Given the description of an element on the screen output the (x, y) to click on. 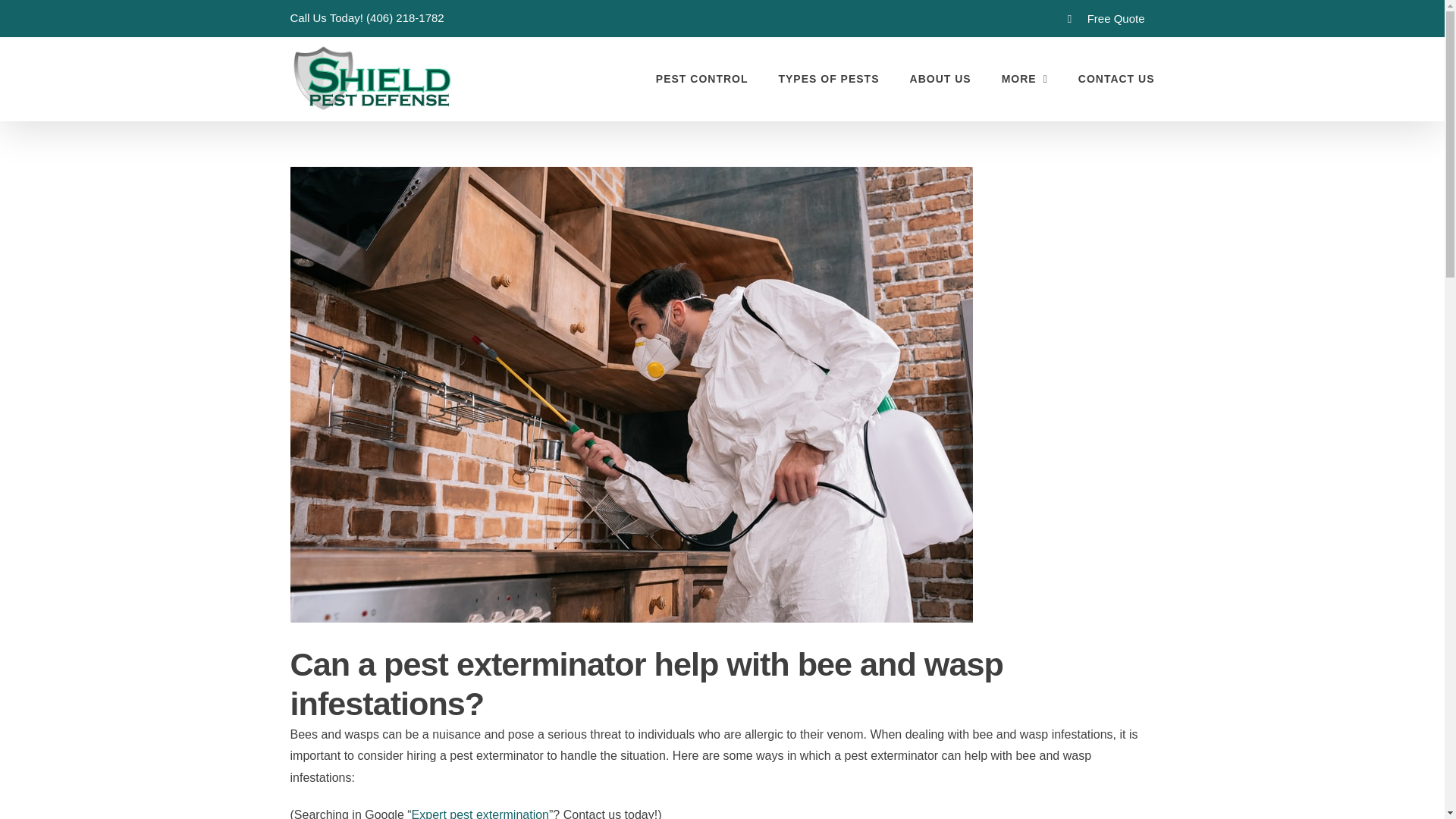
TYPES OF PESTS (828, 78)
Free Quote (1106, 18)
PEST CONTROL (702, 78)
Expert pest extermination (480, 813)
CONTACT US (1116, 78)
